Given the description of an element on the screen output the (x, y) to click on. 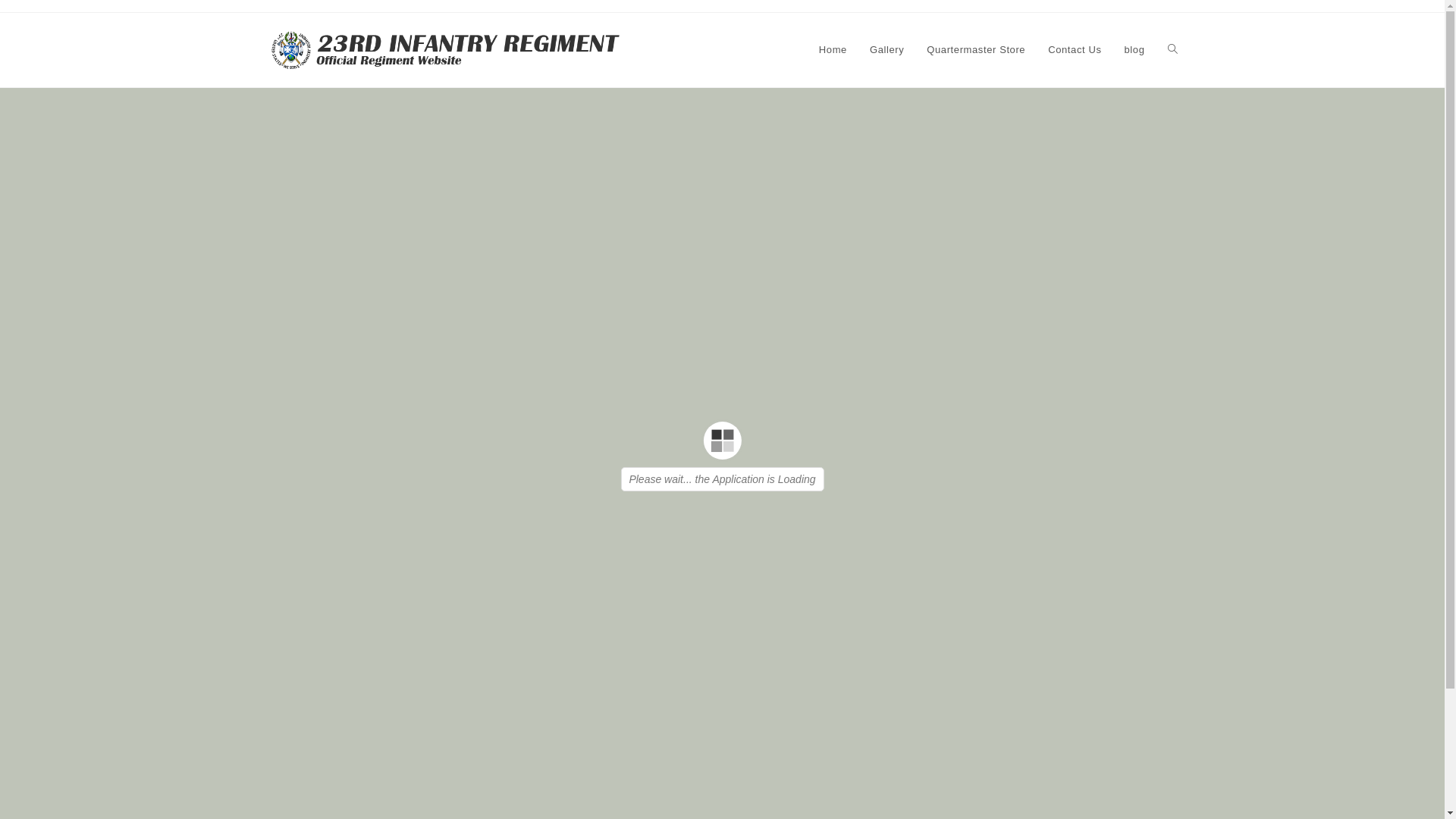
Quartermaster Store Element type: text (975, 49)
Contact Us Element type: text (1074, 49)
Gallery Element type: text (886, 49)
blog Element type: text (1134, 49)
Home Element type: text (832, 49)
